Given the description of an element on the screen output the (x, y) to click on. 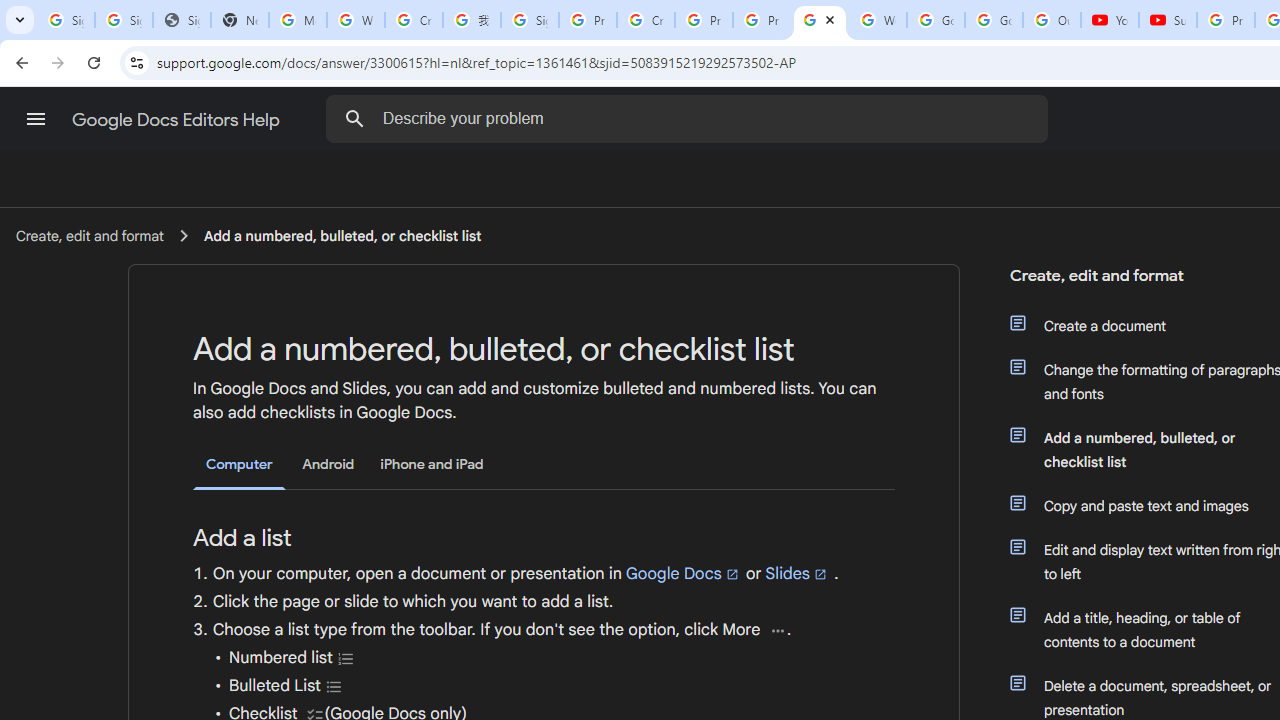
Search the Help Center (354, 118)
Create your Google Account (413, 20)
Google Docs Editors Help (177, 119)
Welcome to My Activity (877, 20)
Sign in - Google Accounts (123, 20)
YouTube (1110, 20)
Sign In - USA TODAY (181, 20)
Google Account (993, 20)
Main menu (35, 119)
Create, edit and format (89, 235)
Subscriptions - YouTube (1167, 20)
iPhone and iPad (431, 464)
